Given the description of an element on the screen output the (x, y) to click on. 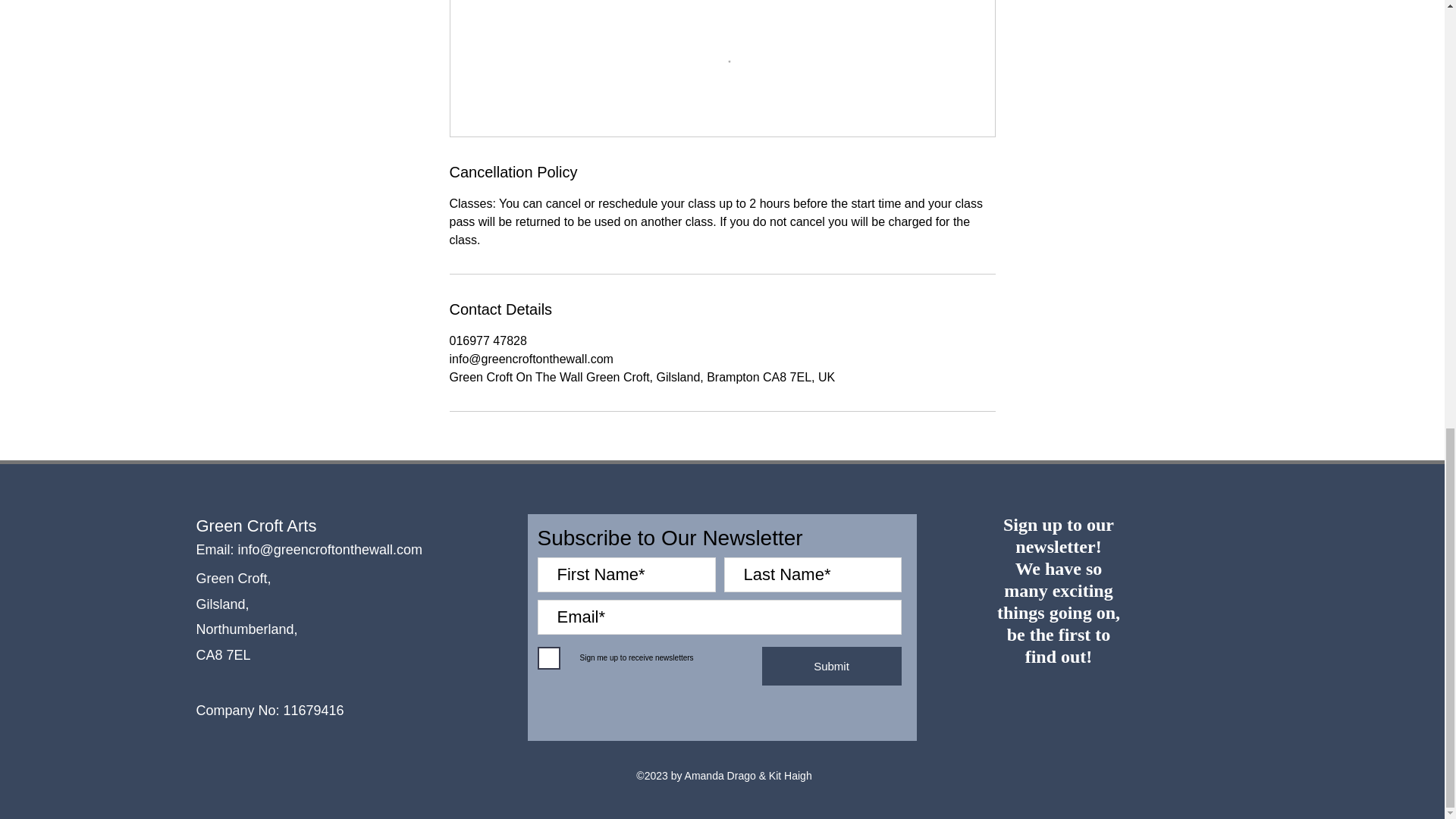
Green Croft Arts (255, 525)
Submit (831, 666)
